Given the description of an element on the screen output the (x, y) to click on. 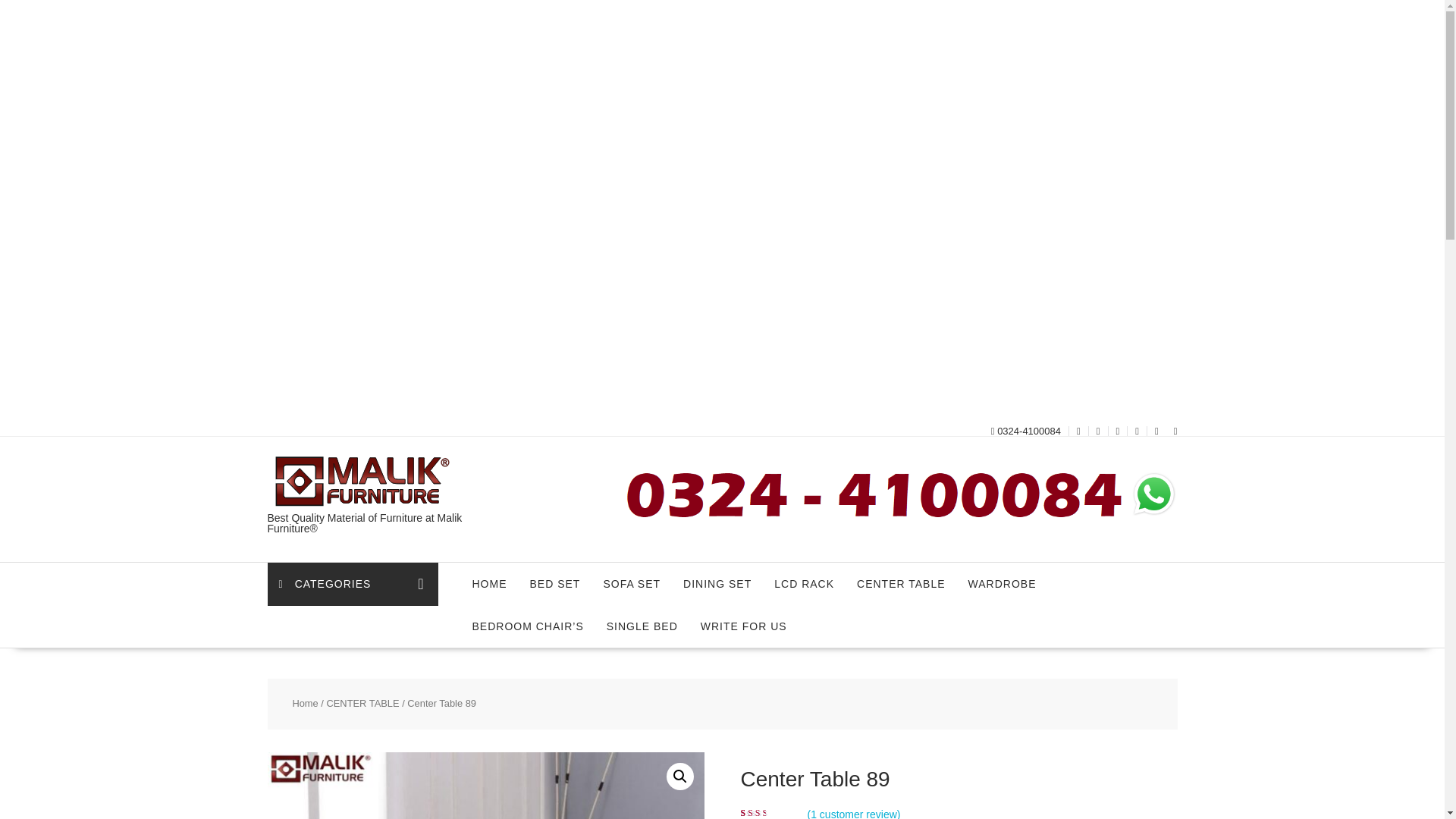
WARDROBE (1002, 583)
CENTER TABLE (900, 583)
HOME (489, 583)
SOFA SET (631, 583)
SINGLE BED (641, 626)
DINING SET (716, 583)
LCD RACK (803, 583)
CATEGORIES (352, 584)
BED SET (555, 583)
Center Table 89 (484, 785)
WRITE FOR US (742, 626)
